Given the description of an element on the screen output the (x, y) to click on. 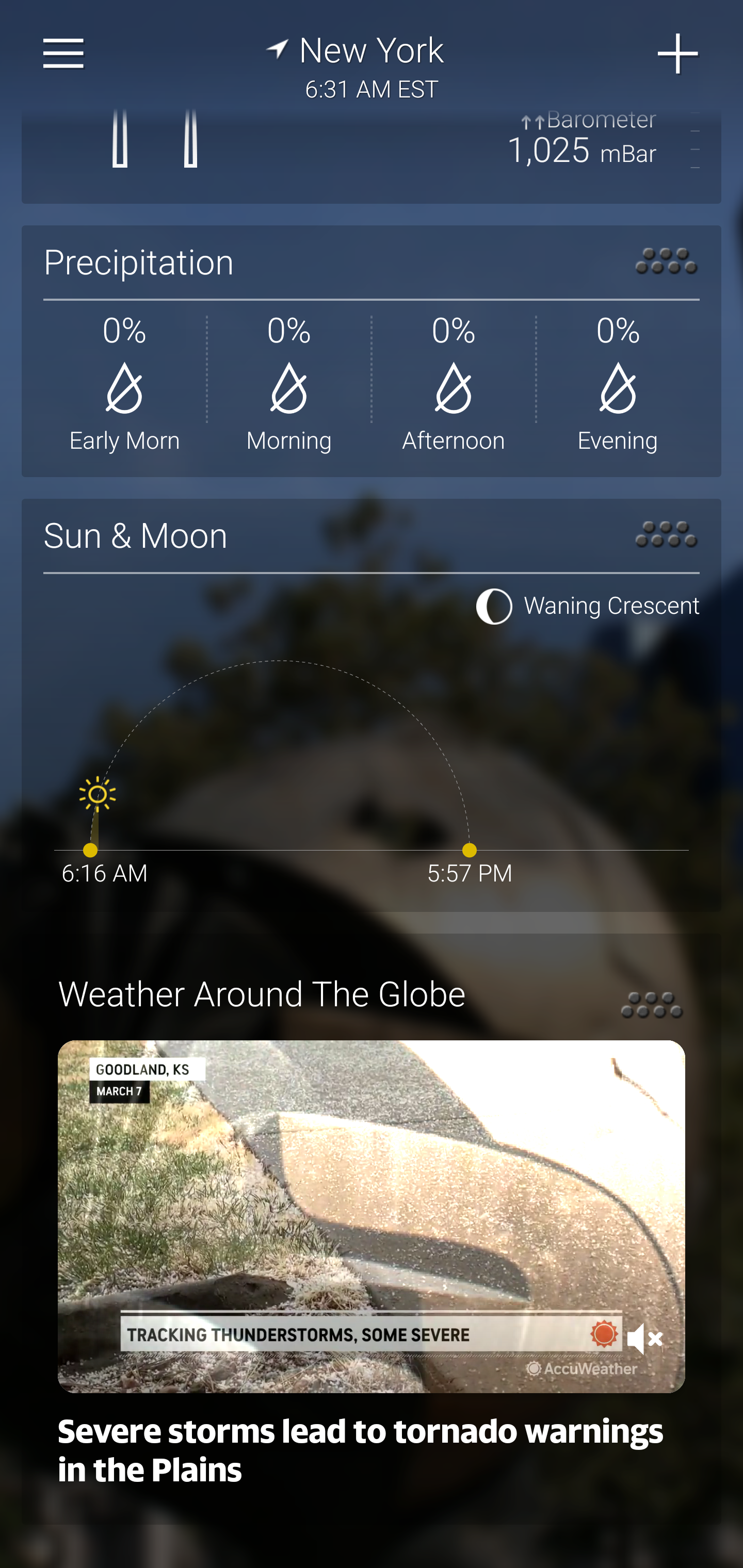
Sidebar (64, 54)
Add City (678, 53)
Unmute (645, 1338)
